Given the description of an element on the screen output the (x, y) to click on. 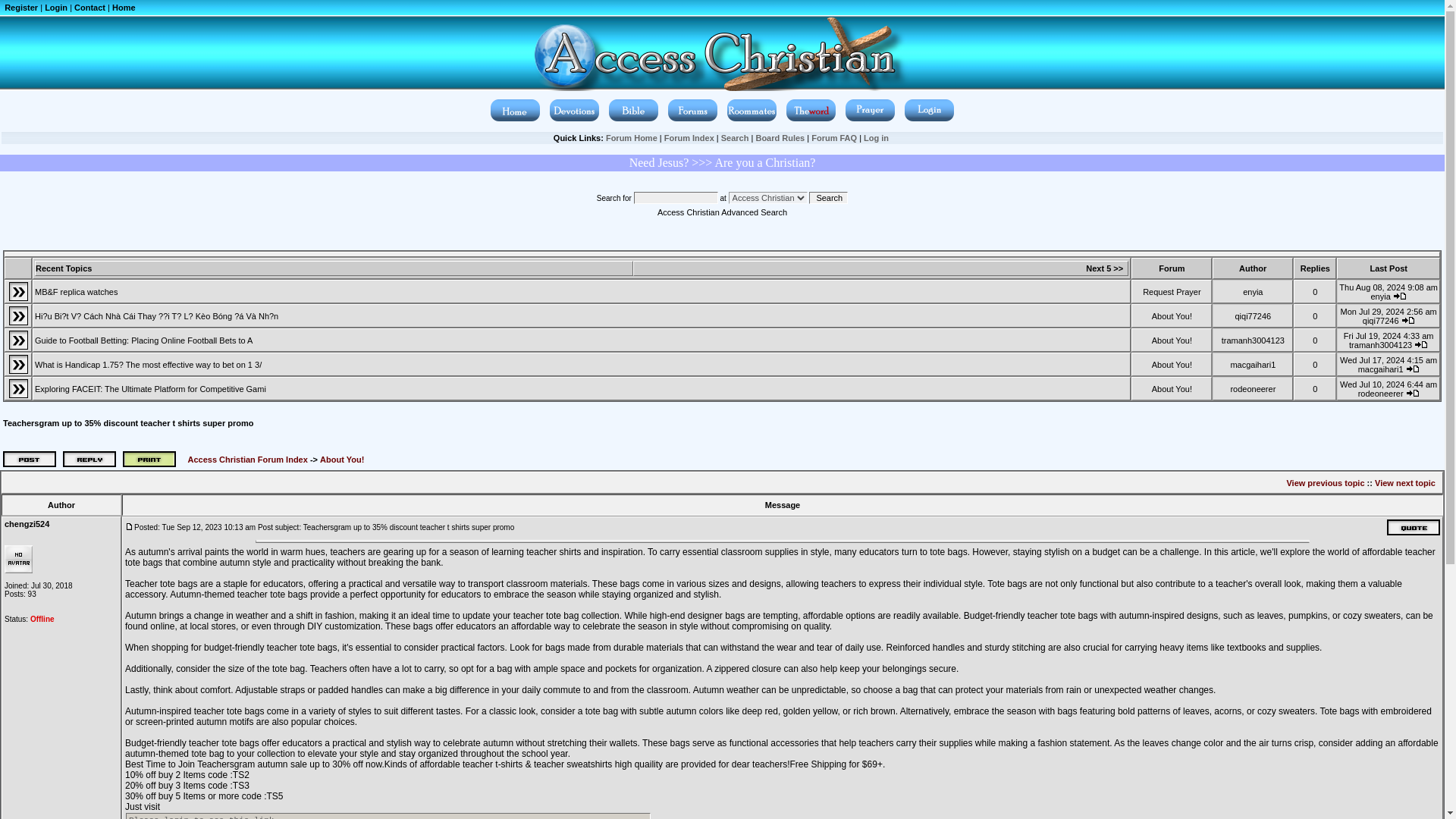
chengzi524 is offline (42, 619)
Guide to Football Betting: Placing Online Football Bets to A (142, 338)
About You! (1171, 338)
View latest post (1407, 319)
Log in (875, 137)
Board Rules (780, 137)
Post (129, 526)
About You! (1171, 315)
enyia (1380, 295)
qiqi77246 (1380, 319)
